Given the description of an element on the screen output the (x, y) to click on. 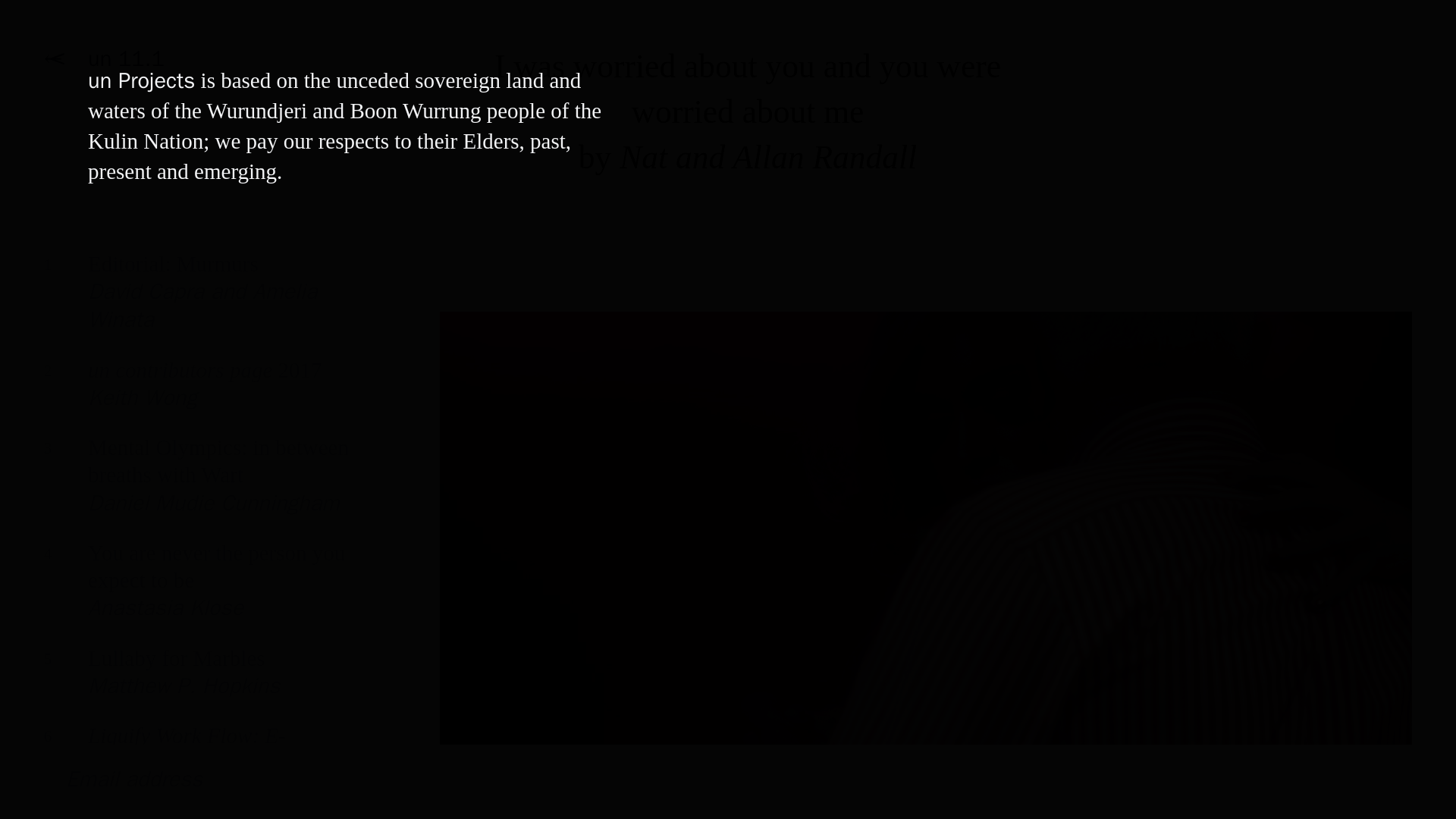
Nat and Allan Randall (768, 156)
Posts by Nat and Allan Randall (197, 303)
